Given the description of an element on the screen output the (x, y) to click on. 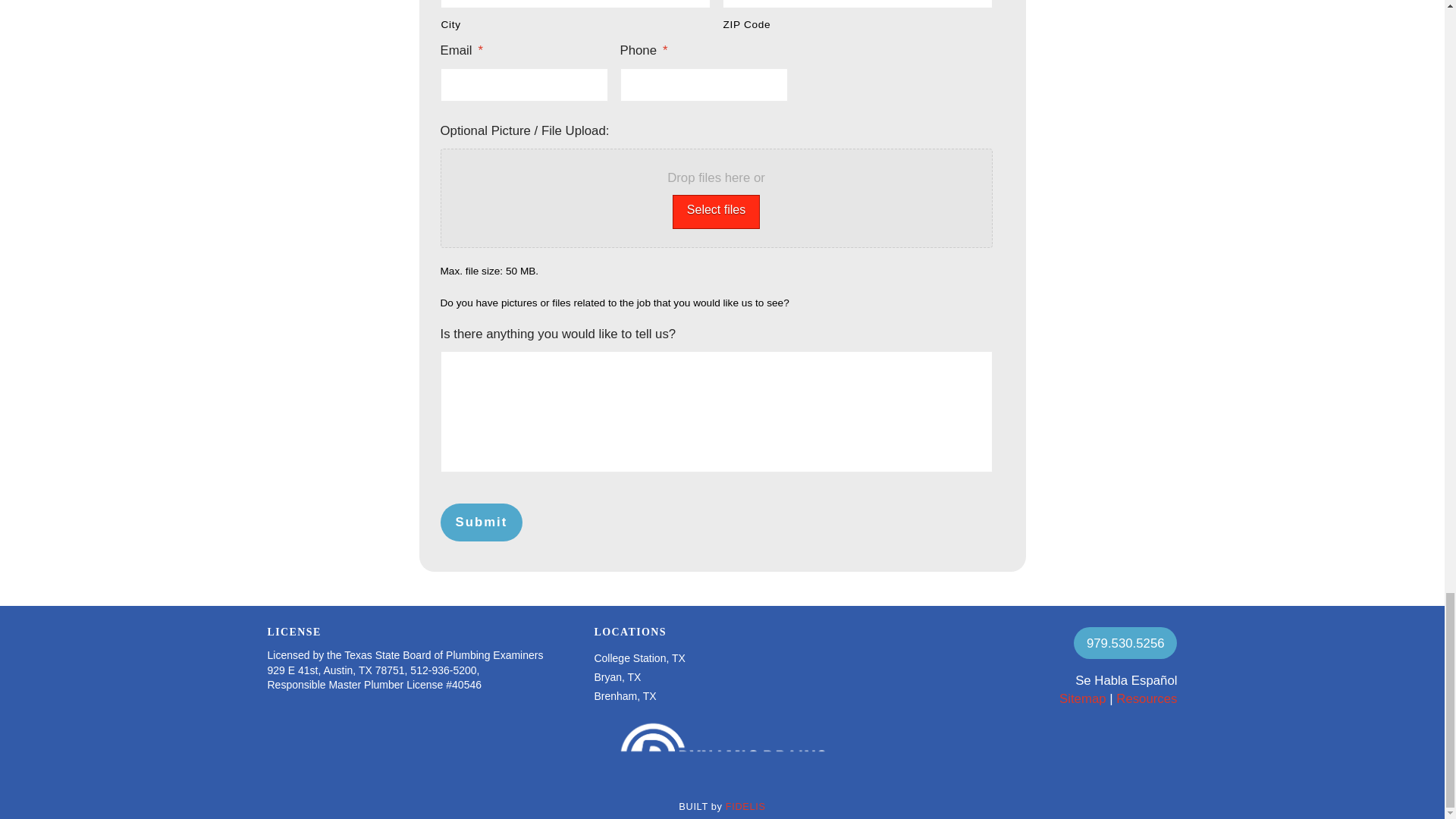
Bryan, TX (617, 676)
College Station, TX (639, 657)
Submit (480, 522)
Sitemap (1082, 698)
Select files (716, 211)
FIDELIS (745, 806)
Resources (1146, 698)
979.530.5256 (1125, 643)
Submit (480, 522)
Brenham, TX (625, 696)
